Given the description of an element on the screen output the (x, y) to click on. 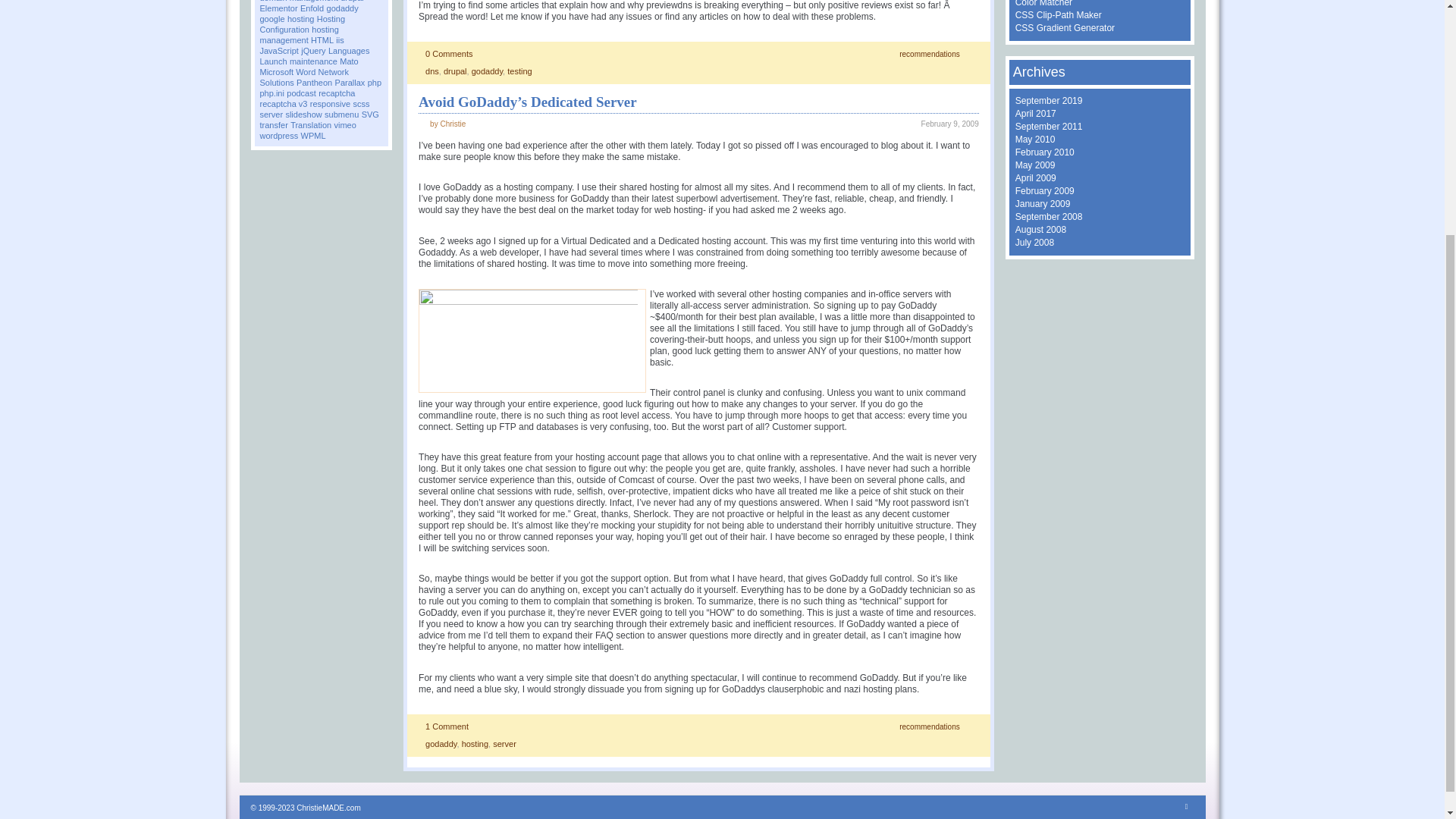
drupal (352, 1)
godaddy (441, 743)
godaddy1 (532, 341)
godaddy (342, 8)
drupal (455, 71)
hosting (474, 743)
domain management (298, 1)
recommendations (929, 726)
server (504, 743)
testing (518, 71)
